Given the description of an element on the screen output the (x, y) to click on. 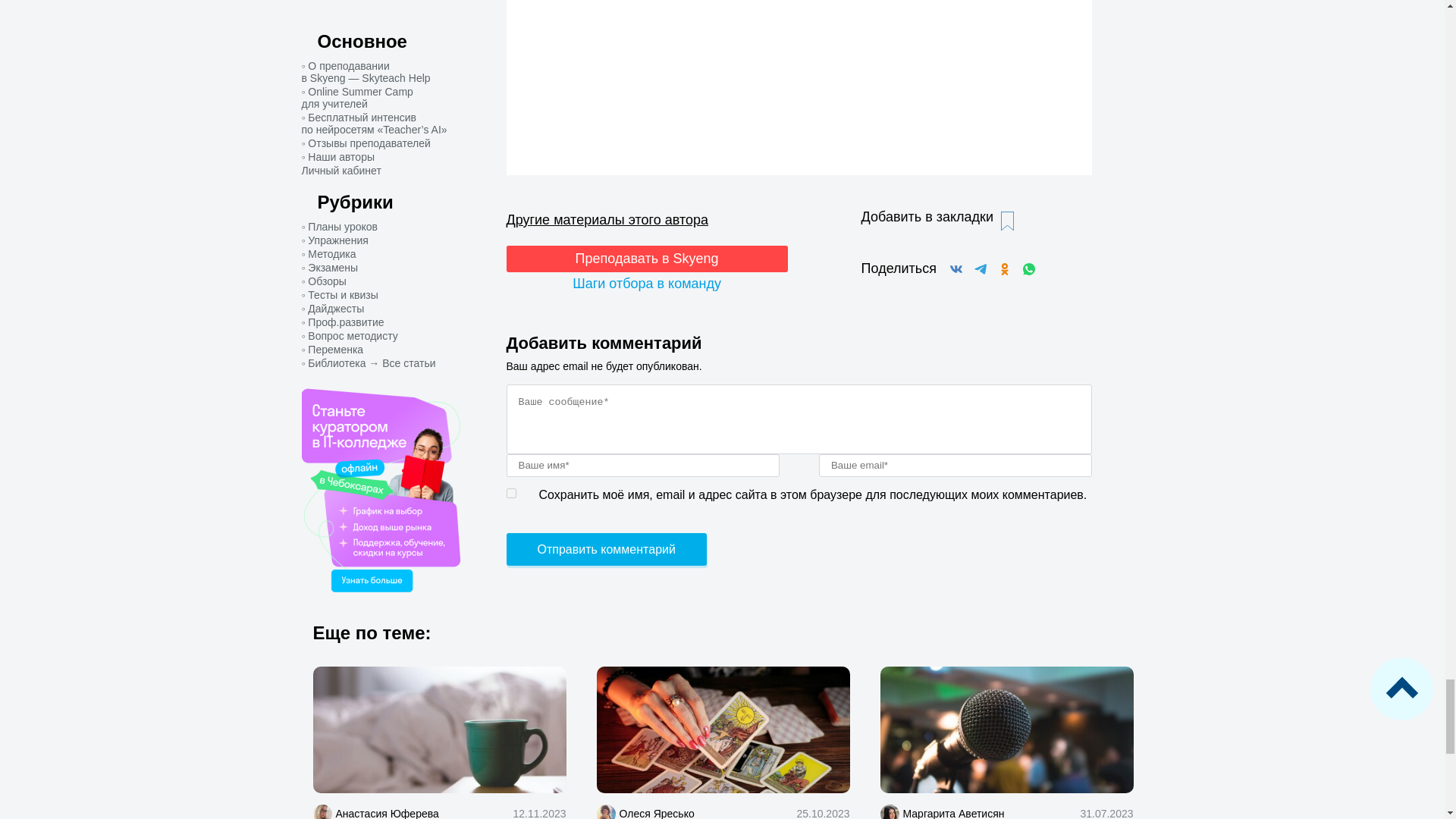
yes (511, 492)
